Given the description of an element on the screen output the (x, y) to click on. 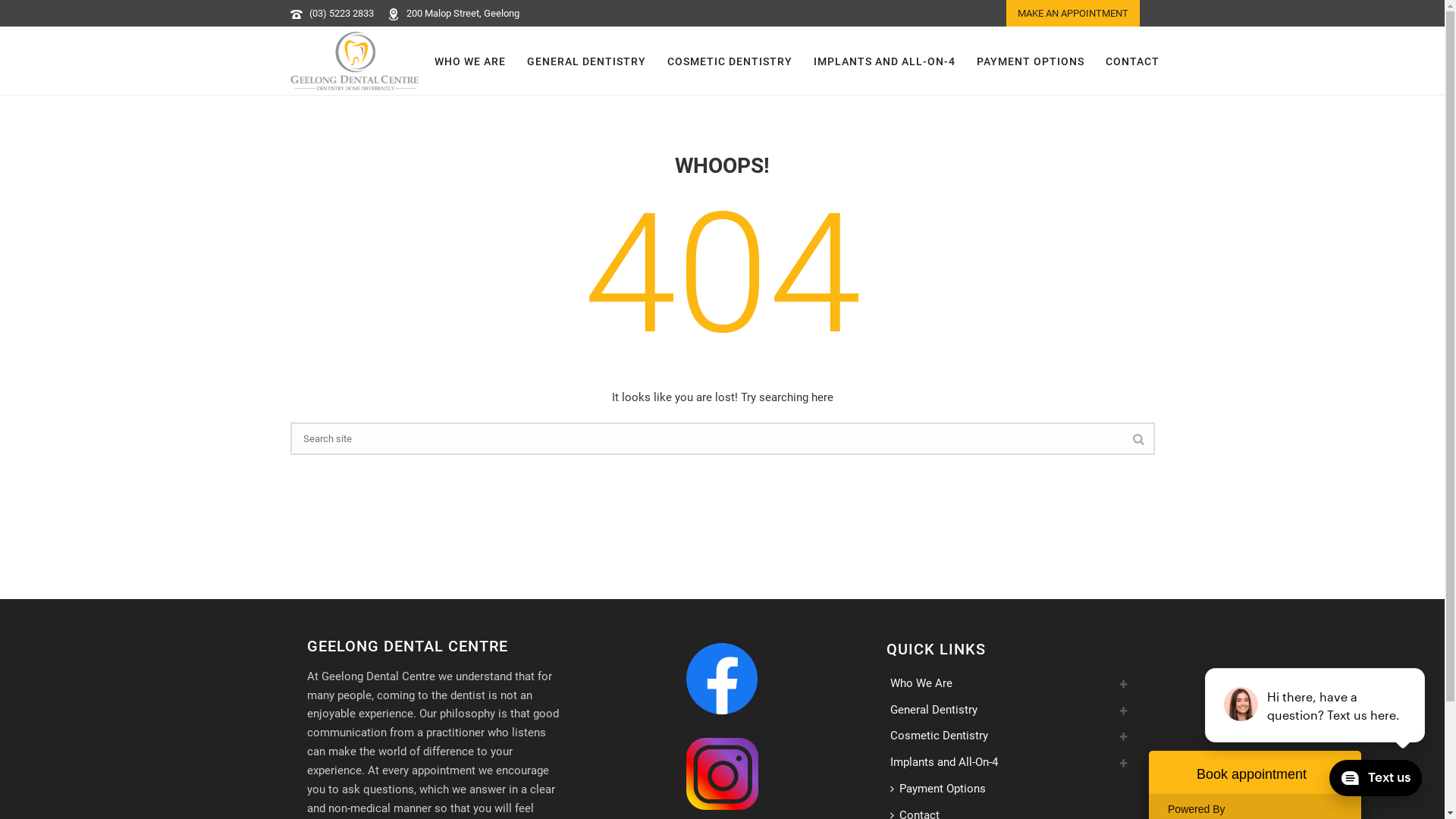
(03) 5223 2833 Element type: text (341, 12)
Payment Options Element type: text (941, 788)
200 Malop Street, Geelong Element type: text (462, 12)
Implants and All-On-4 Element type: text (947, 762)
Who We Are Element type: text (924, 683)
CONTACT Element type: text (1132, 61)
COSMETIC DENTISTRY Element type: text (729, 61)
MAKE AN APPOINTMENT Element type: text (1072, 13)
Cosmetic Dentistry Element type: text (942, 735)
WHO WE ARE Element type: text (469, 61)
GENERAL DENTISTRY Element type: text (585, 61)
General Dentistry Element type: text (937, 709)
podium webchat widget prompt Element type: hover (1315, 705)
PAYMENT OPTIONS Element type: text (1030, 61)
IMPLANTS AND ALL-ON-4 Element type: text (883, 61)
